Given the description of an element on the screen output the (x, y) to click on. 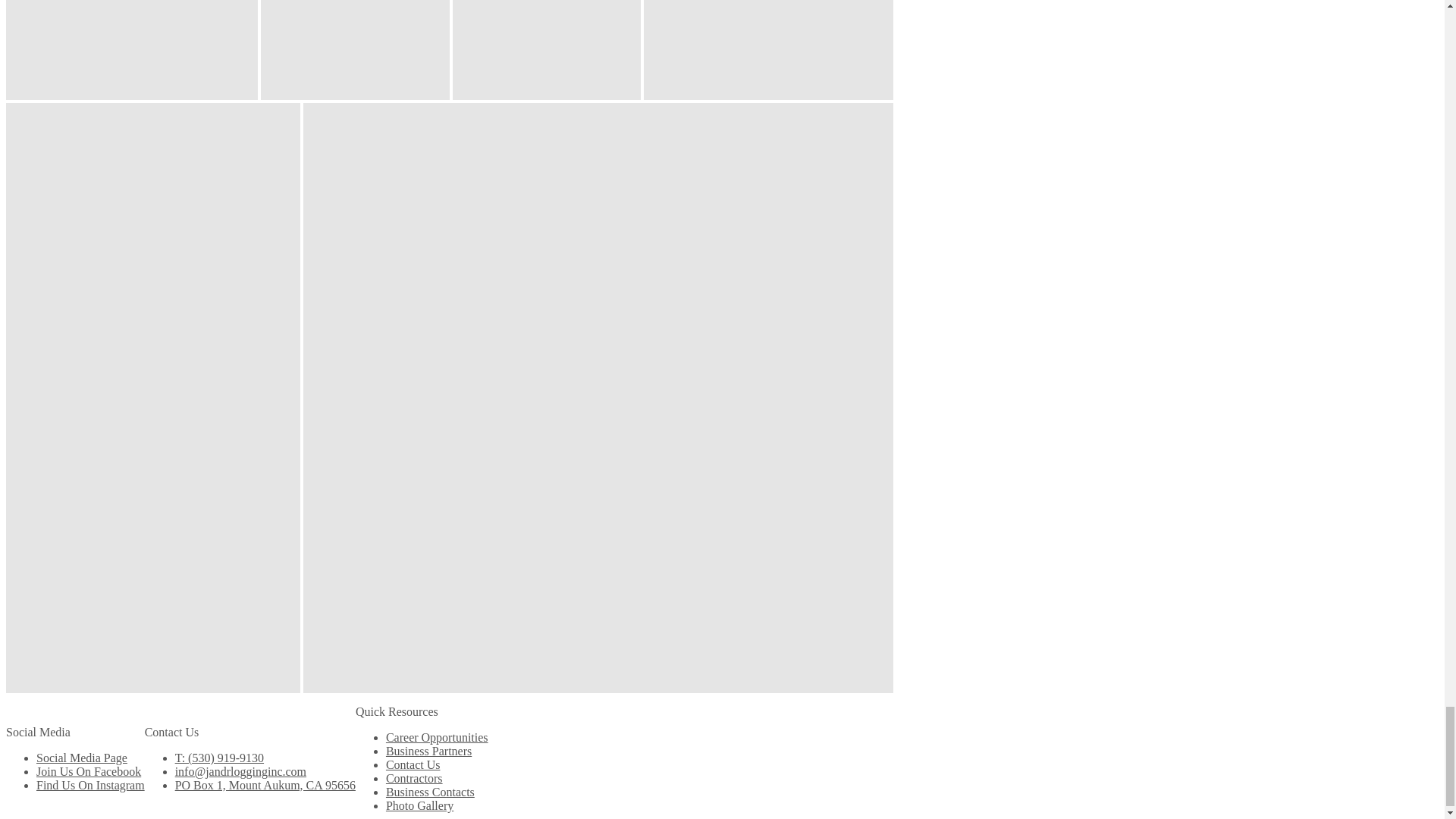
Business Contacts (429, 791)
Find Us On Instagram (90, 784)
Photo Gallery (418, 805)
Social Media Page (82, 757)
Contact Us (413, 764)
Career Opportunities (436, 737)
Join Us On Facebook (88, 771)
PO Box 1, Mount Aukum, CA 95656 (264, 784)
Business Partners (428, 750)
Contractors (413, 778)
